Given the description of an element on the screen output the (x, y) to click on. 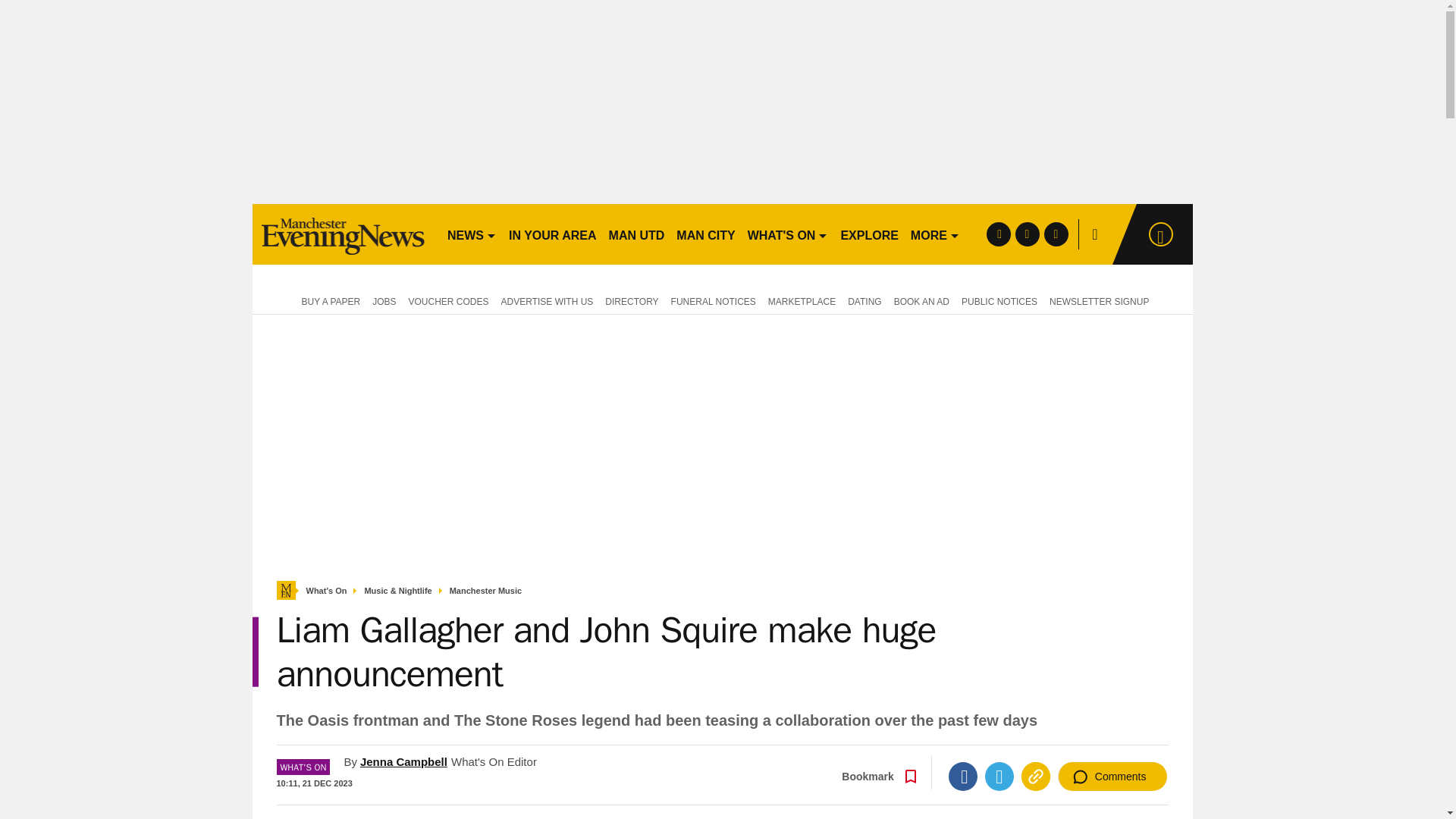
twitter (1026, 233)
IN YOUR AREA (552, 233)
WHAT'S ON (787, 233)
MAN CITY (705, 233)
instagram (1055, 233)
Comments (1112, 776)
men (342, 233)
facebook (997, 233)
Twitter (999, 776)
MAN UTD (636, 233)
